Given the description of an element on the screen output the (x, y) to click on. 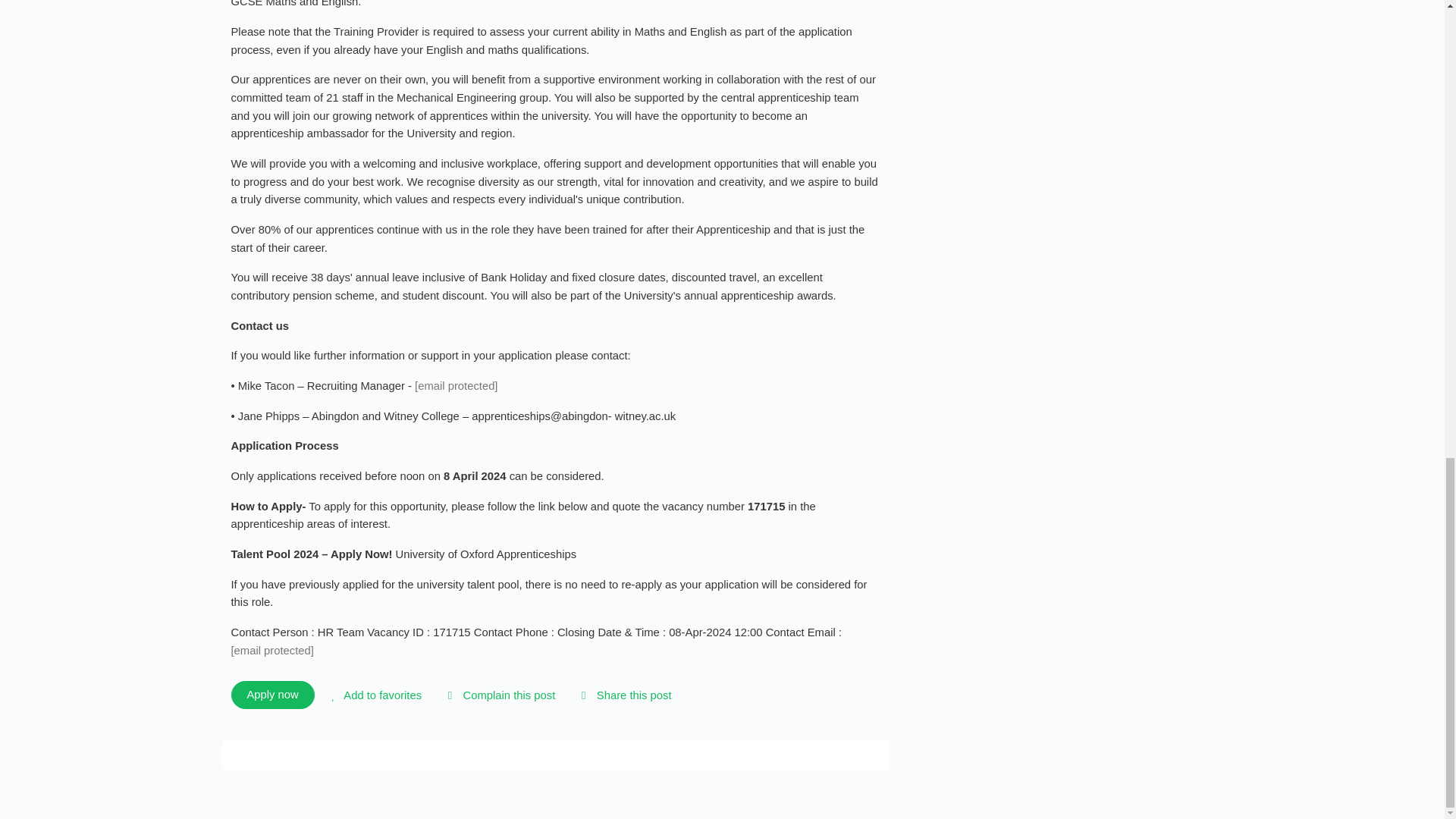
Add to favorites (374, 695)
Complain this post (498, 695)
Apply now (272, 694)
Share this post (623, 695)
